Given the description of an element on the screen output the (x, y) to click on. 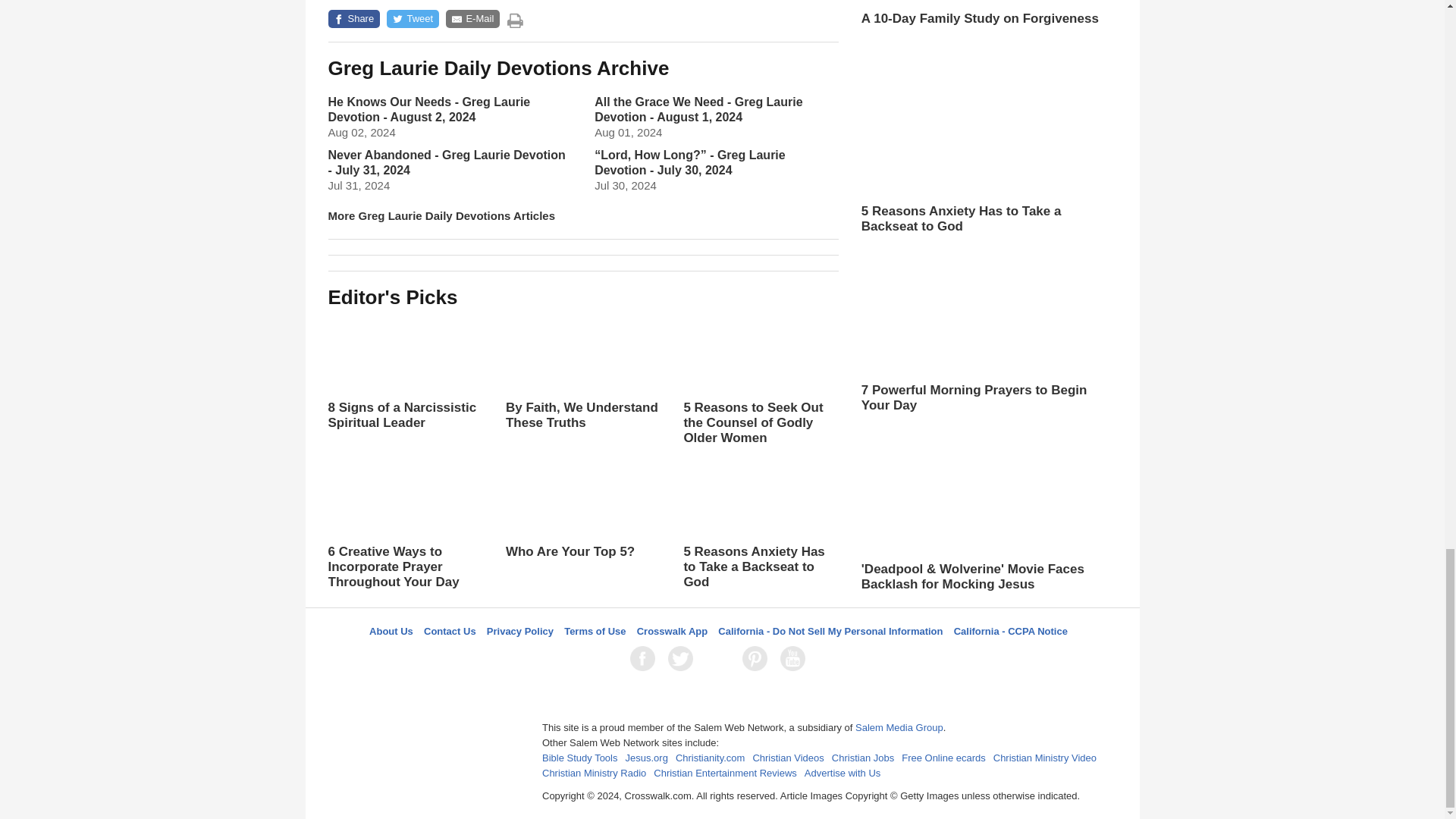
5 Reasons Anxiety Has to Take a Backseat to God (760, 524)
YouTube (795, 658)
Pinterest (757, 658)
6 Creative Ways to Incorporate Prayer Throughout Your Day (404, 524)
By Faith, We Understand These Truths (583, 387)
Facebook (645, 658)
Who Are Your Top 5? (583, 523)
Twitter (683, 658)
8 Signs of a Narcissistic Spiritual Leader (404, 372)
5 Reasons to Seek Out the Counsel of Godly Older Women (760, 380)
